Given the description of an element on the screen output the (x, y) to click on. 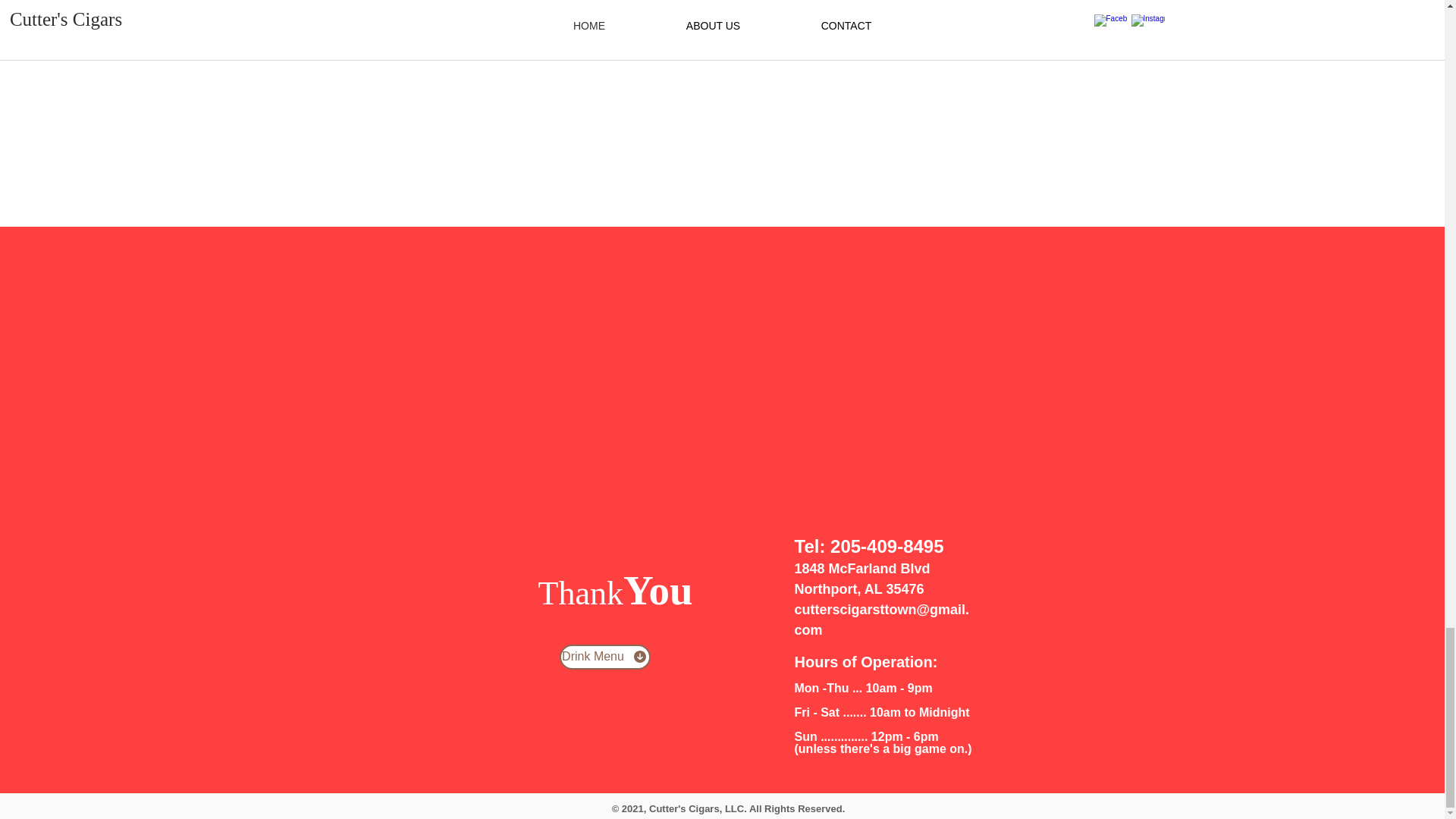
Drink Menu (604, 656)
